Given the description of an element on the screen output the (x, y) to click on. 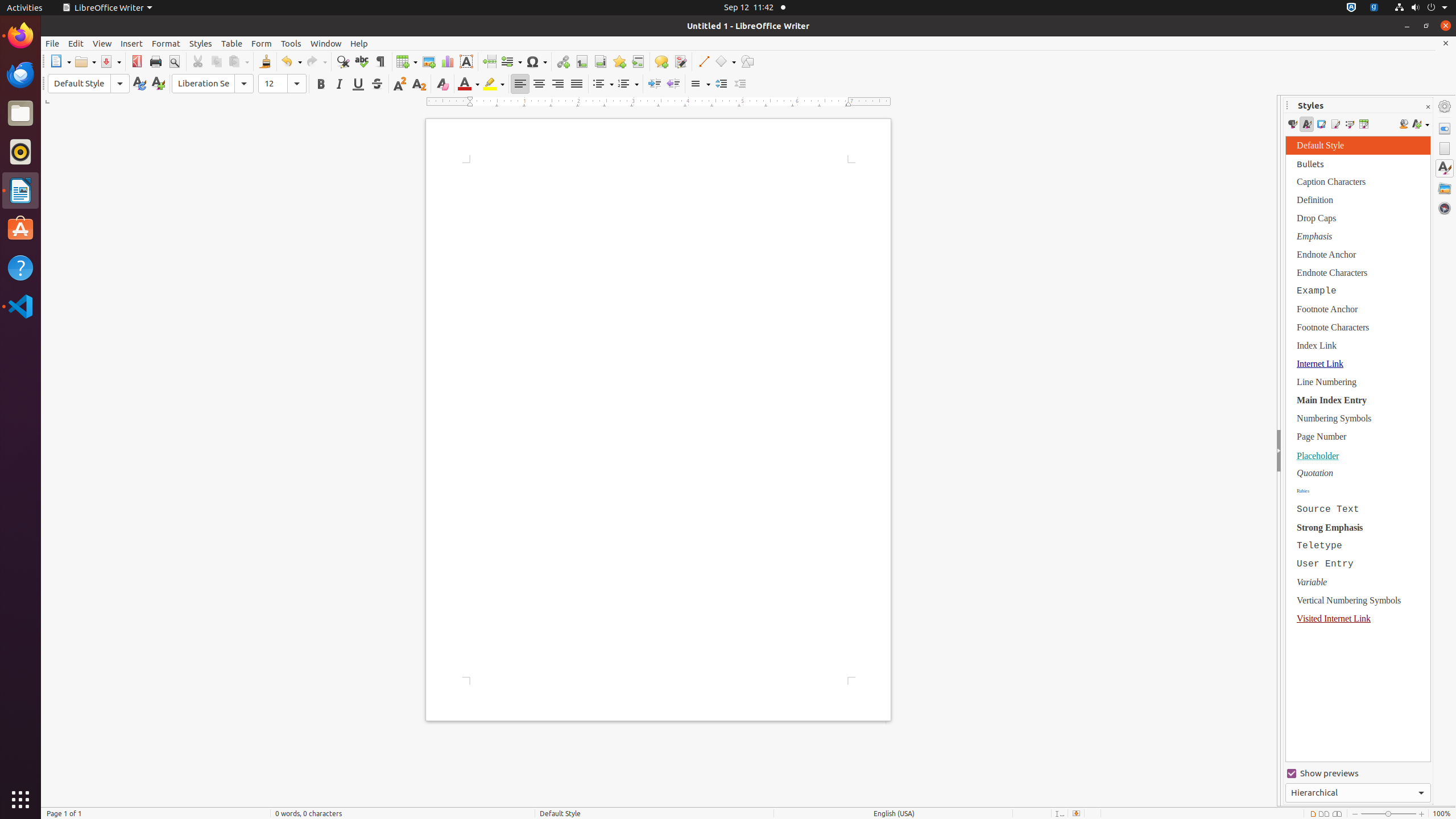
Files Element type: push-button (20, 113)
Undo Element type: push-button (290, 61)
Numbering Element type: push-button (627, 83)
Horizontal Ruler Element type: ruler (658, 101)
Thunderbird Mail Element type: push-button (20, 74)
